Given the description of an element on the screen output the (x, y) to click on. 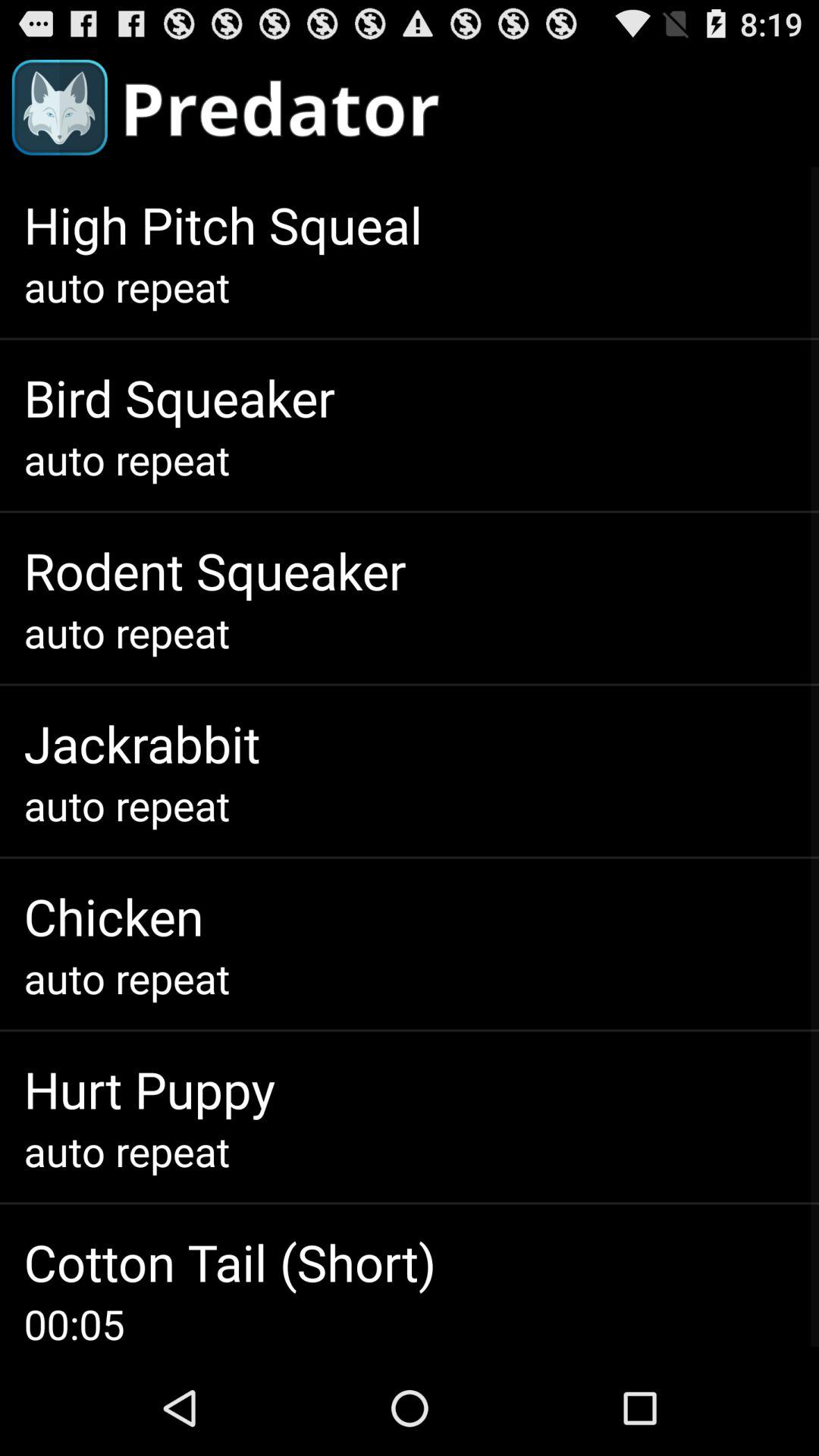
scroll to the high pitch squeal icon (222, 224)
